Given the description of an element on the screen output the (x, y) to click on. 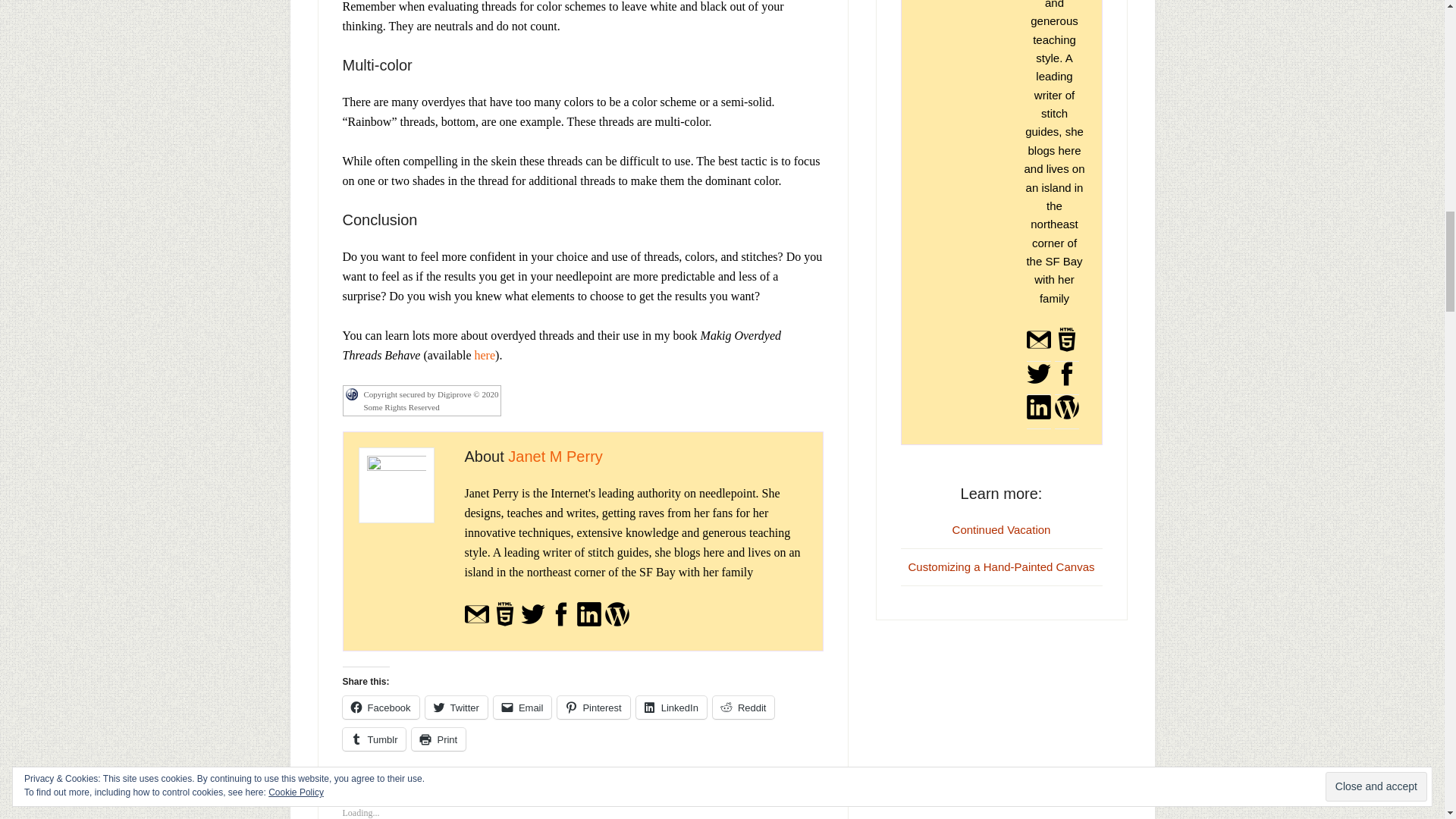
Click to share on LinkedIn (671, 707)
Click to share on Tumblr (374, 739)
Click to share on Pinterest (592, 707)
Click to share on Twitter (456, 707)
Click to see details of license (422, 407)
Send Janet M Perry Mail (475, 623)
Janet M Perry On The Web (504, 623)
Janet M Perry On Twitter (531, 623)
Janet M Perry On Facebook (560, 623)
